Given the description of an element on the screen output the (x, y) to click on. 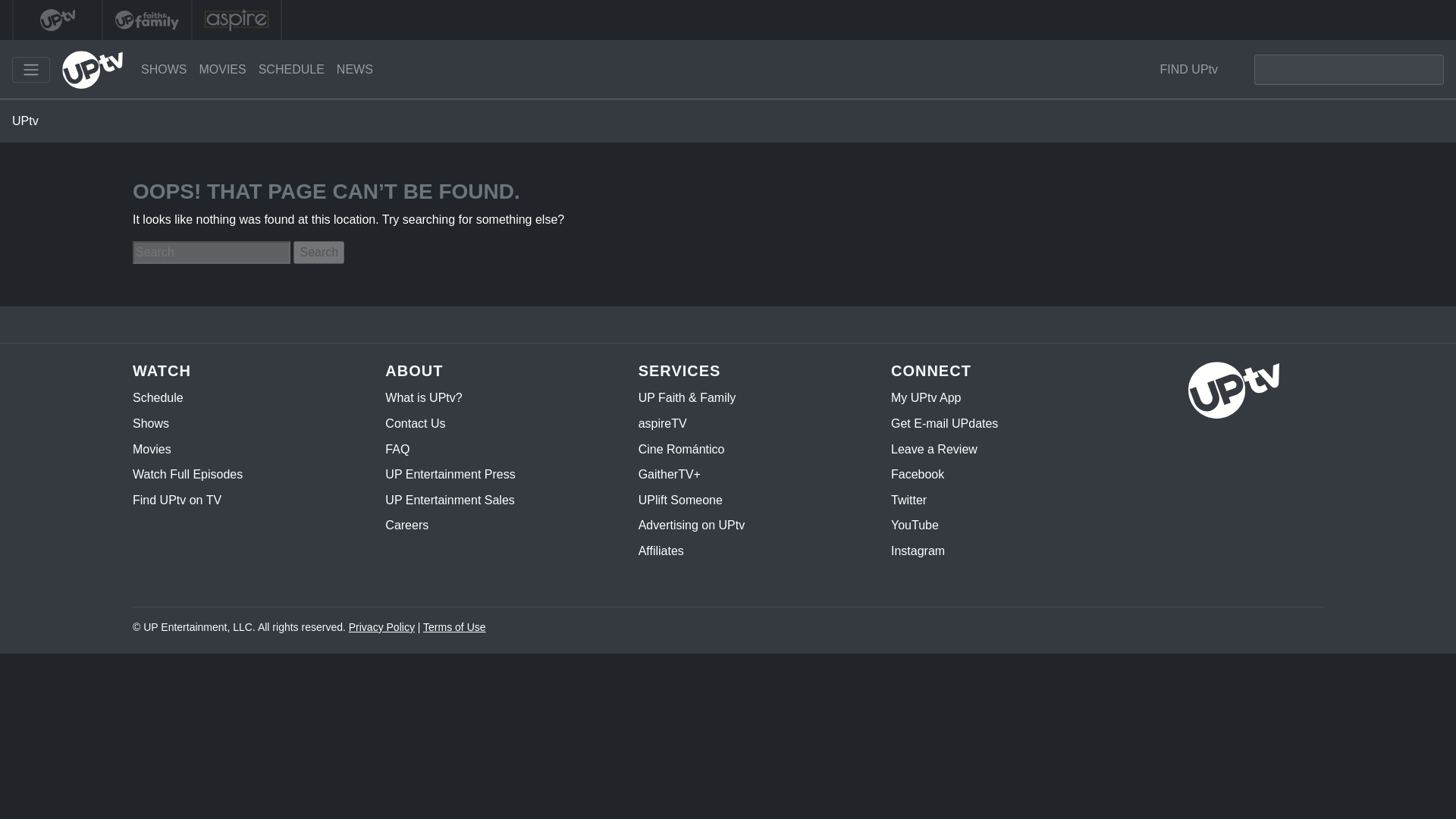
MOVIES (221, 69)
Search (318, 251)
Schedule (157, 397)
Watch Full Episodes (187, 473)
Find UPtv on TV (176, 499)
UPlift Someone (680, 499)
SCHEDULE (290, 69)
What is UPtv? (423, 397)
Shows (150, 422)
UP Entertainment Sales (449, 499)
